Given the description of an element on the screen output the (x, y) to click on. 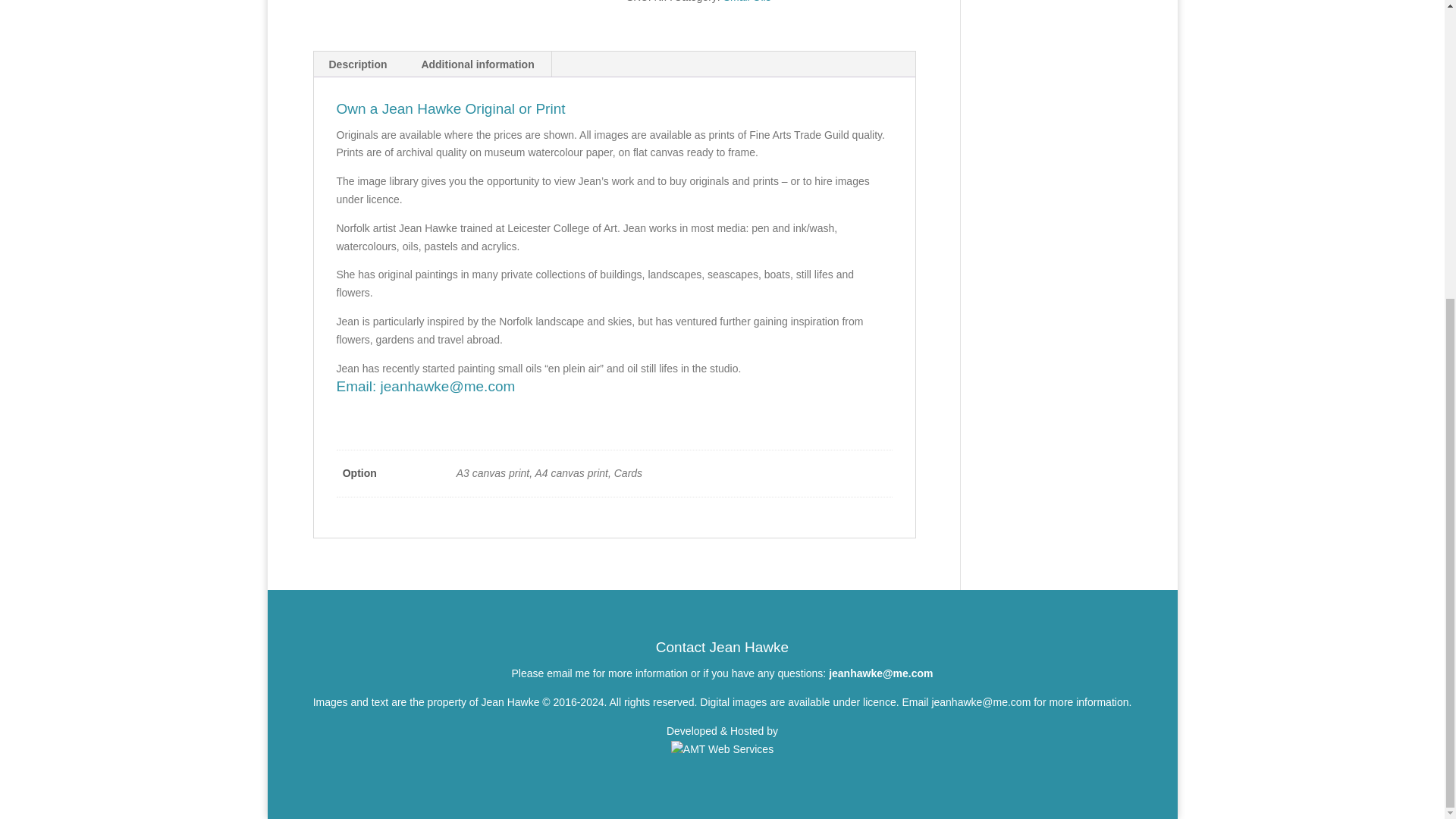
Additional information (477, 63)
Description (358, 63)
Small Oils (747, 1)
